Given the description of an element on the screen output the (x, y) to click on. 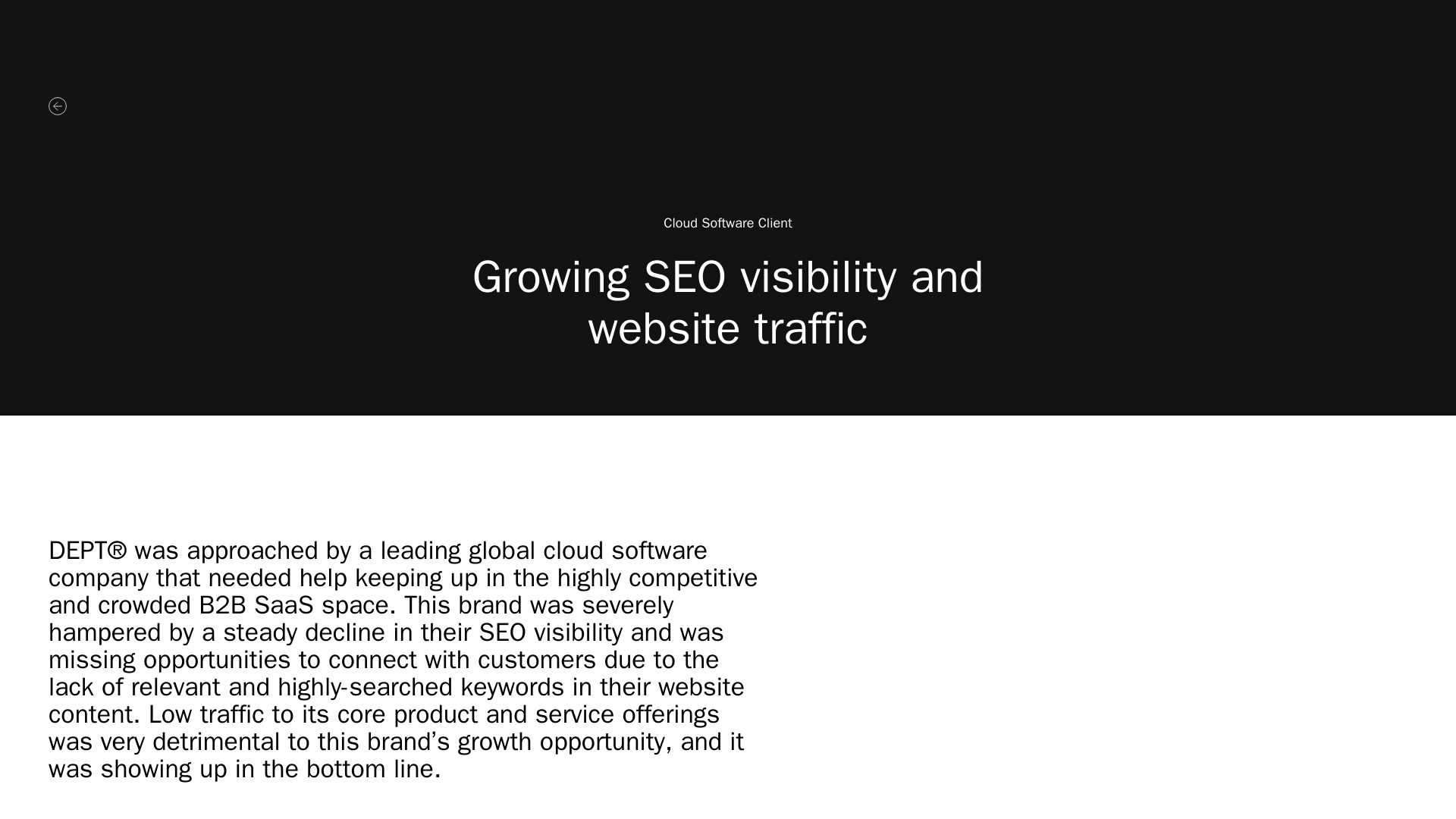
CULTURE (903, 48)
CAREERS (1186, 48)
SERVICES (998, 48)
INSIGHTS (1093, 48)
WORK (821, 48)
CONTACT (1278, 48)
Toggle menu (1392, 48)
